Given the description of an element on the screen output the (x, y) to click on. 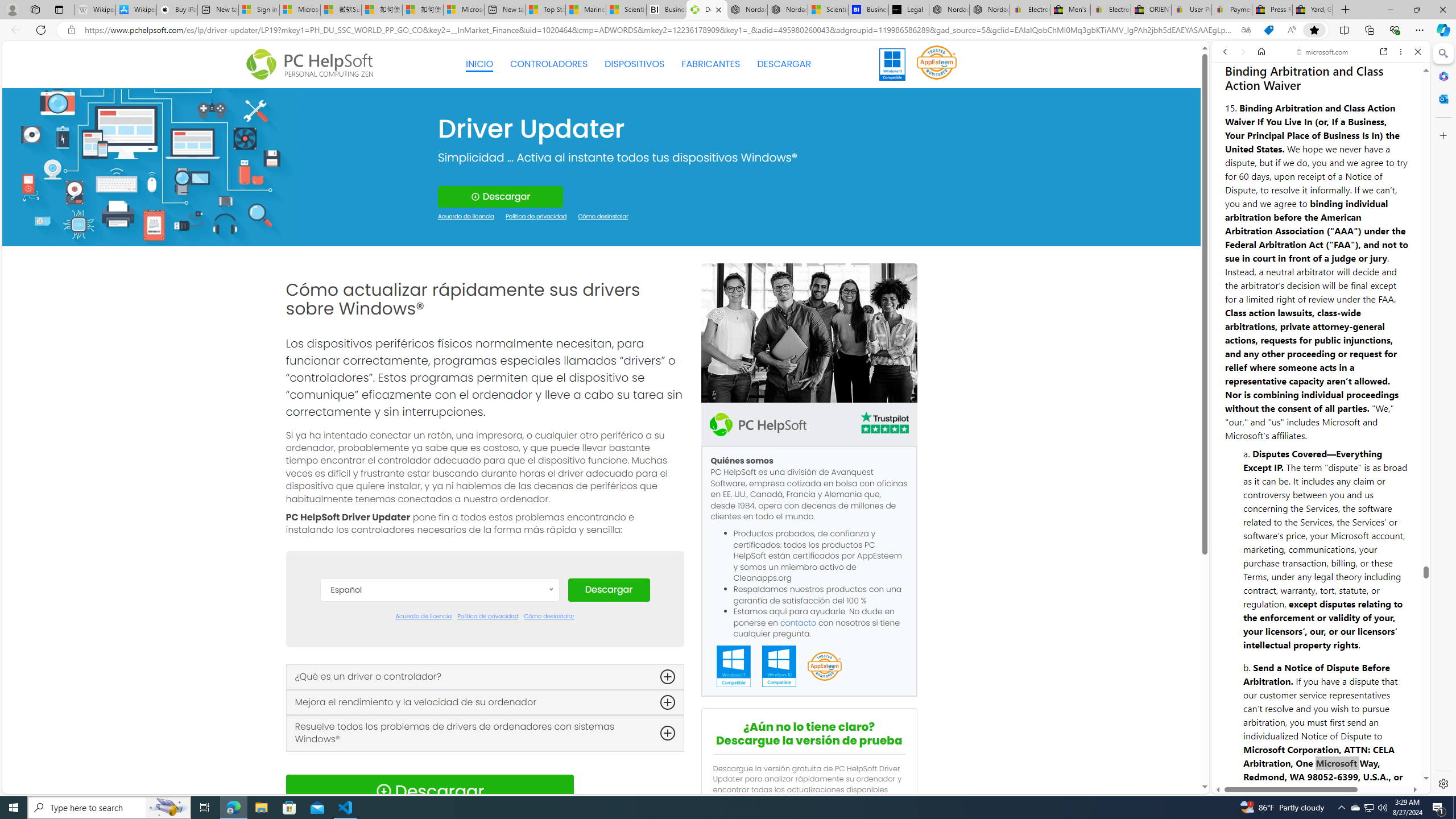
DESCARGAR (783, 64)
DISPOSITIVOS (634, 64)
microsoft.com (1323, 51)
Windows 11 Compatible (733, 666)
Descargar (608, 589)
